Given the description of an element on the screen output the (x, y) to click on. 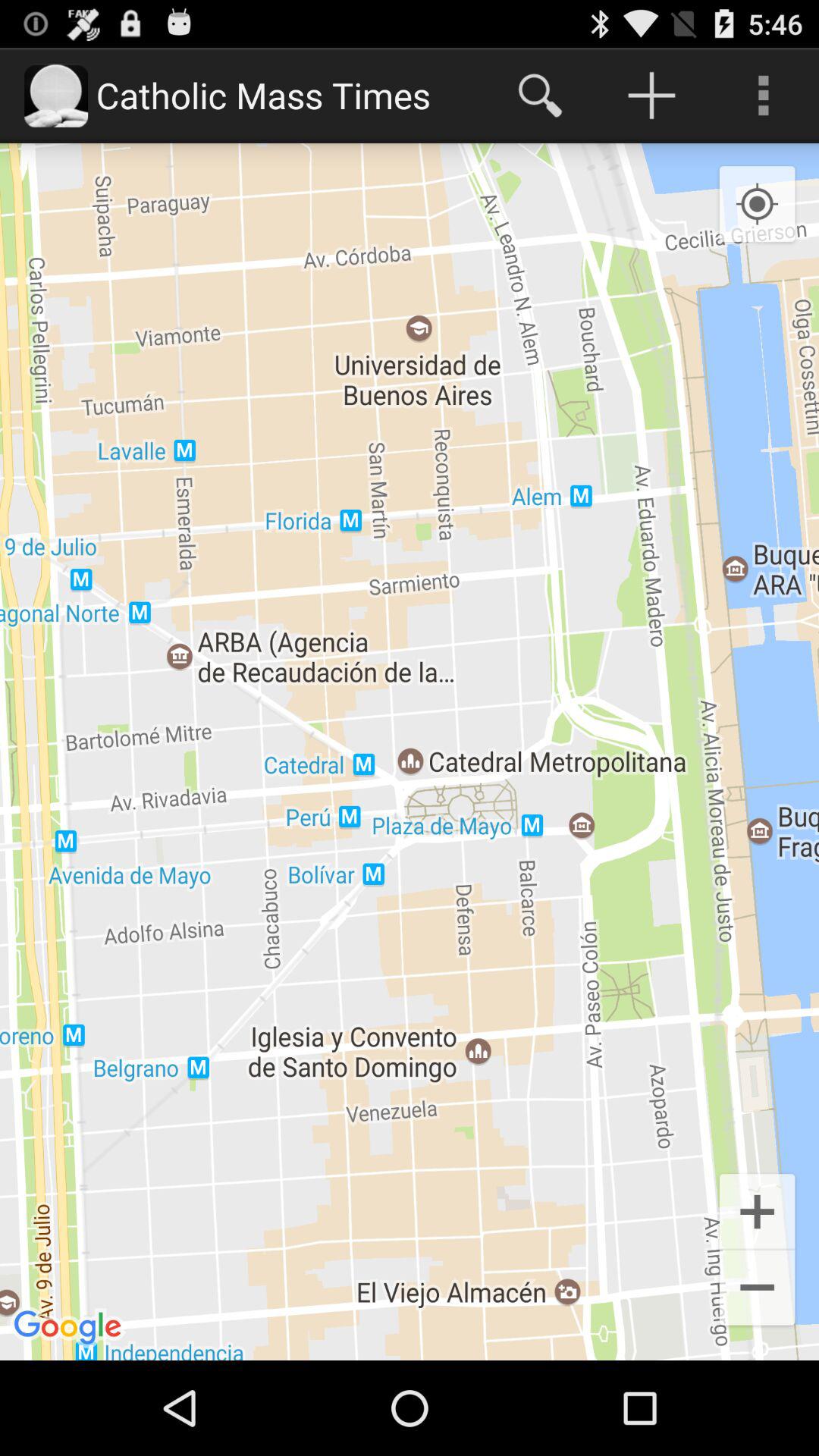
select the icon next to the catholic mass times app (540, 95)
